Given the description of an element on the screen output the (x, y) to click on. 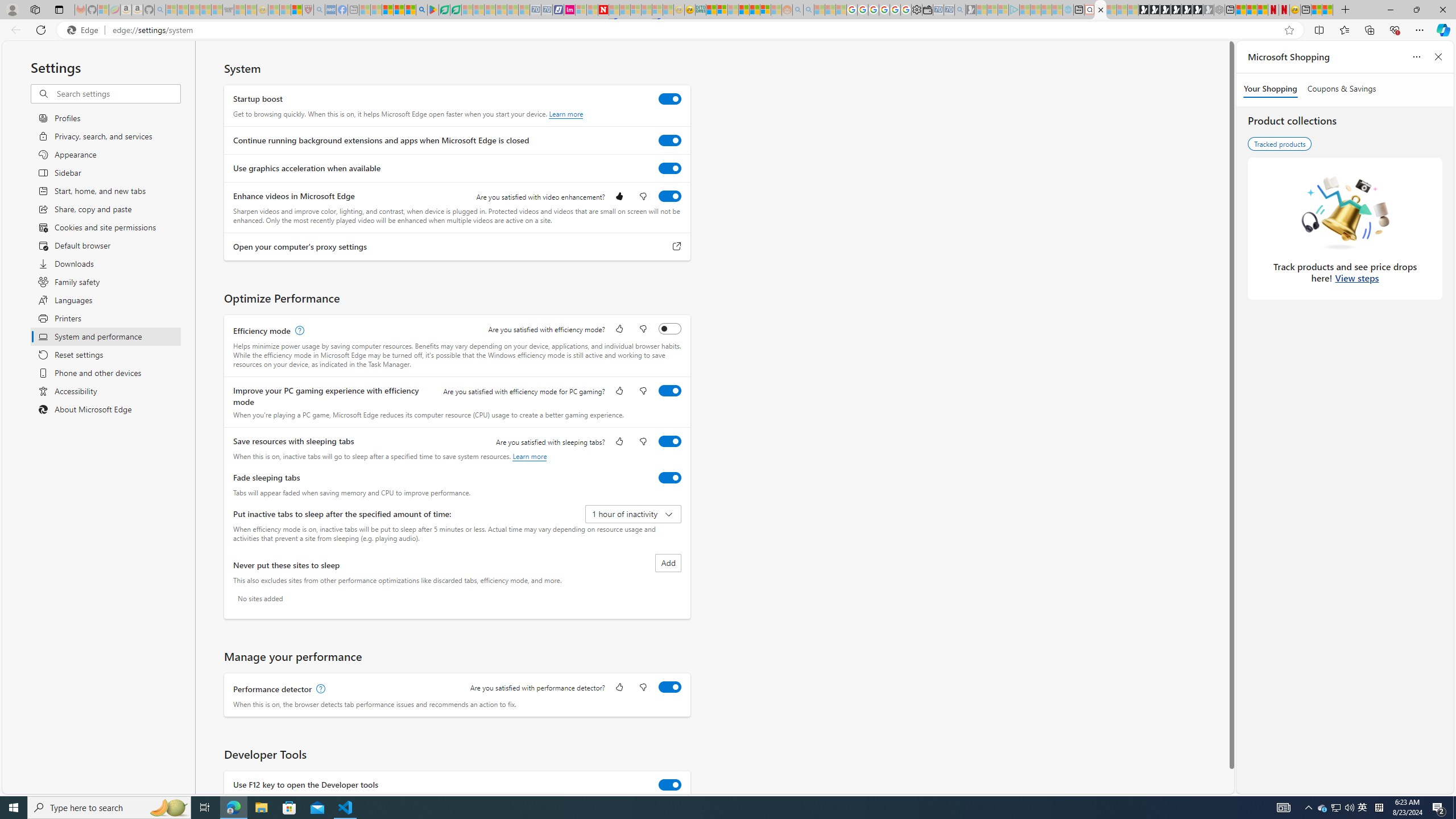
Jobs - lastminute.com Investor Portal (569, 9)
Microsoft Word - consumer-privacy address update 2.2021 (455, 9)
Performance detector (669, 686)
Performance detector, learn more (319, 688)
Fade sleeping tabs (669, 477)
Cheap Hotels - Save70.com - Sleeping (546, 9)
